Given the description of an element on the screen output the (x, y) to click on. 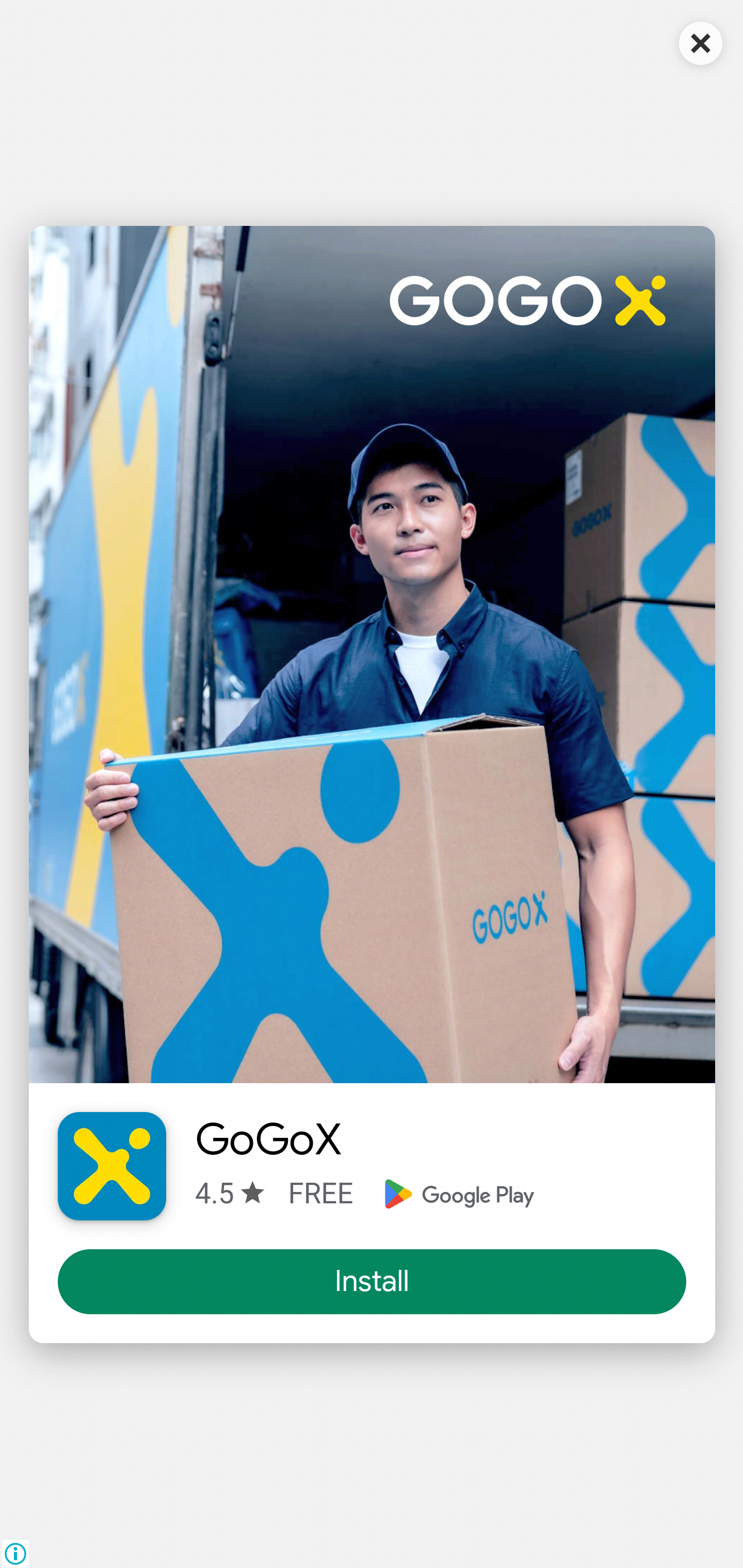
Install (372, 1282)
